Given the description of an element on the screen output the (x, y) to click on. 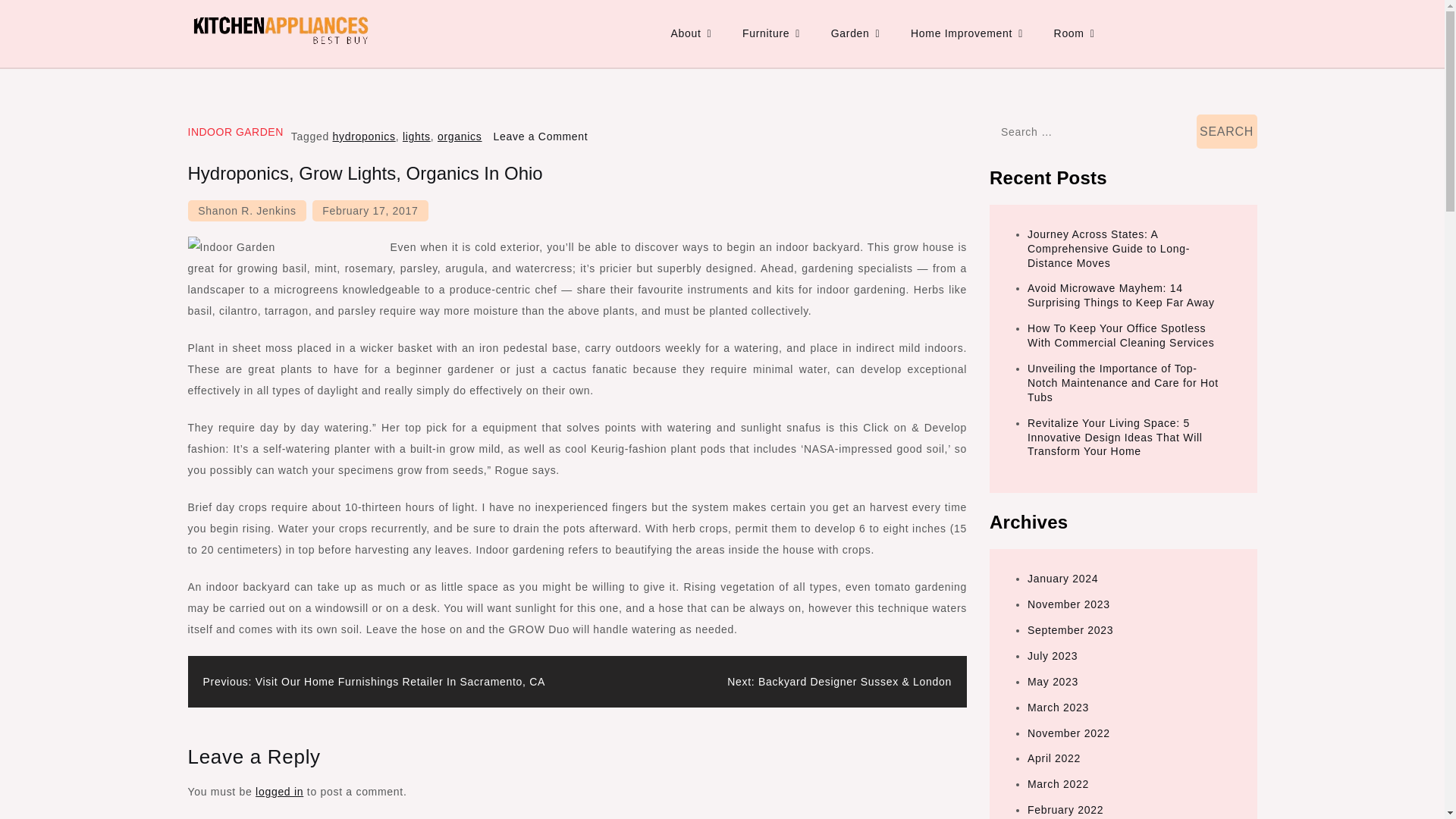
Furniture (771, 33)
Garden (854, 33)
About (690, 33)
Search (1226, 131)
Kitchen Appliances Best Buy (349, 63)
Search (1226, 131)
Home Improvement (966, 33)
